Given the description of an element on the screen output the (x, y) to click on. 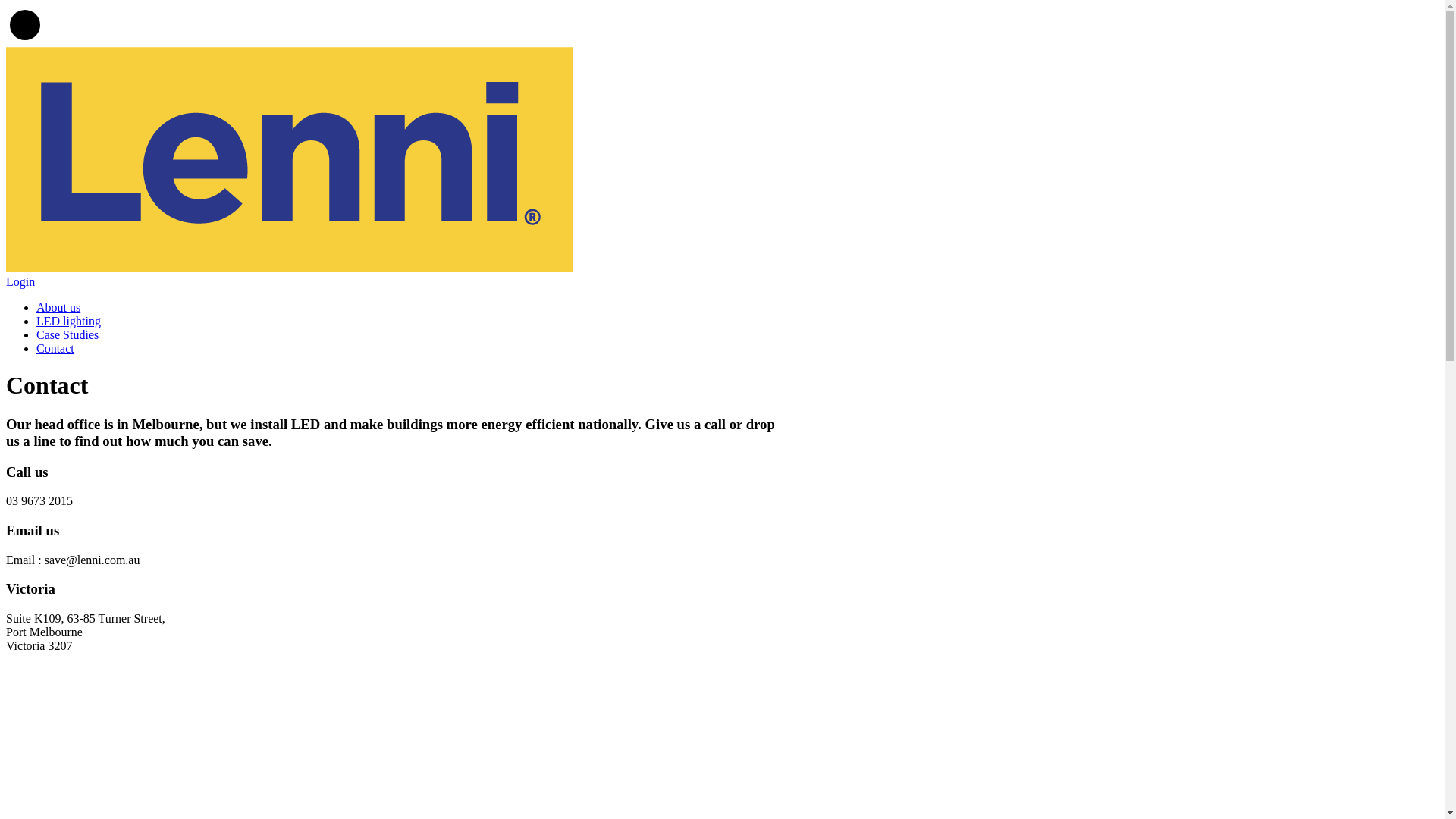
Case Studies Element type: text (67, 334)
Lenni Element type: hover (289, 267)
Login Element type: text (20, 281)
About us Element type: text (58, 307)
Contact Element type: text (55, 348)
LED lighting Element type: text (68, 320)
